Given the description of an element on the screen output the (x, y) to click on. 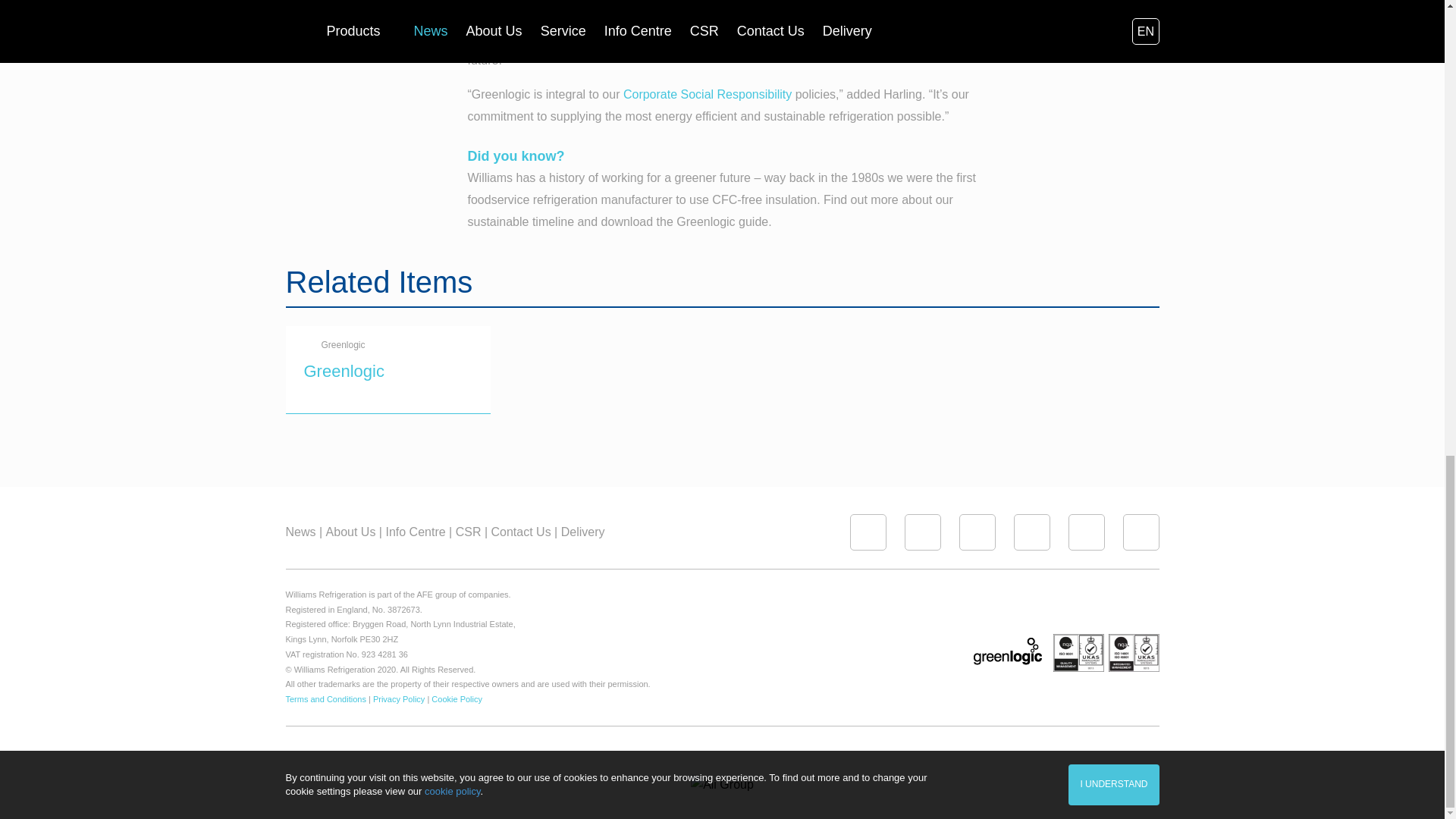
More on CSR (707, 93)
News (303, 532)
About Us (353, 532)
Contact Us (524, 532)
Corporate Social Responsibility (707, 93)
CSR (471, 532)
Info Centre (418, 532)
Delivery (582, 532)
